Given the description of an element on the screen output the (x, y) to click on. 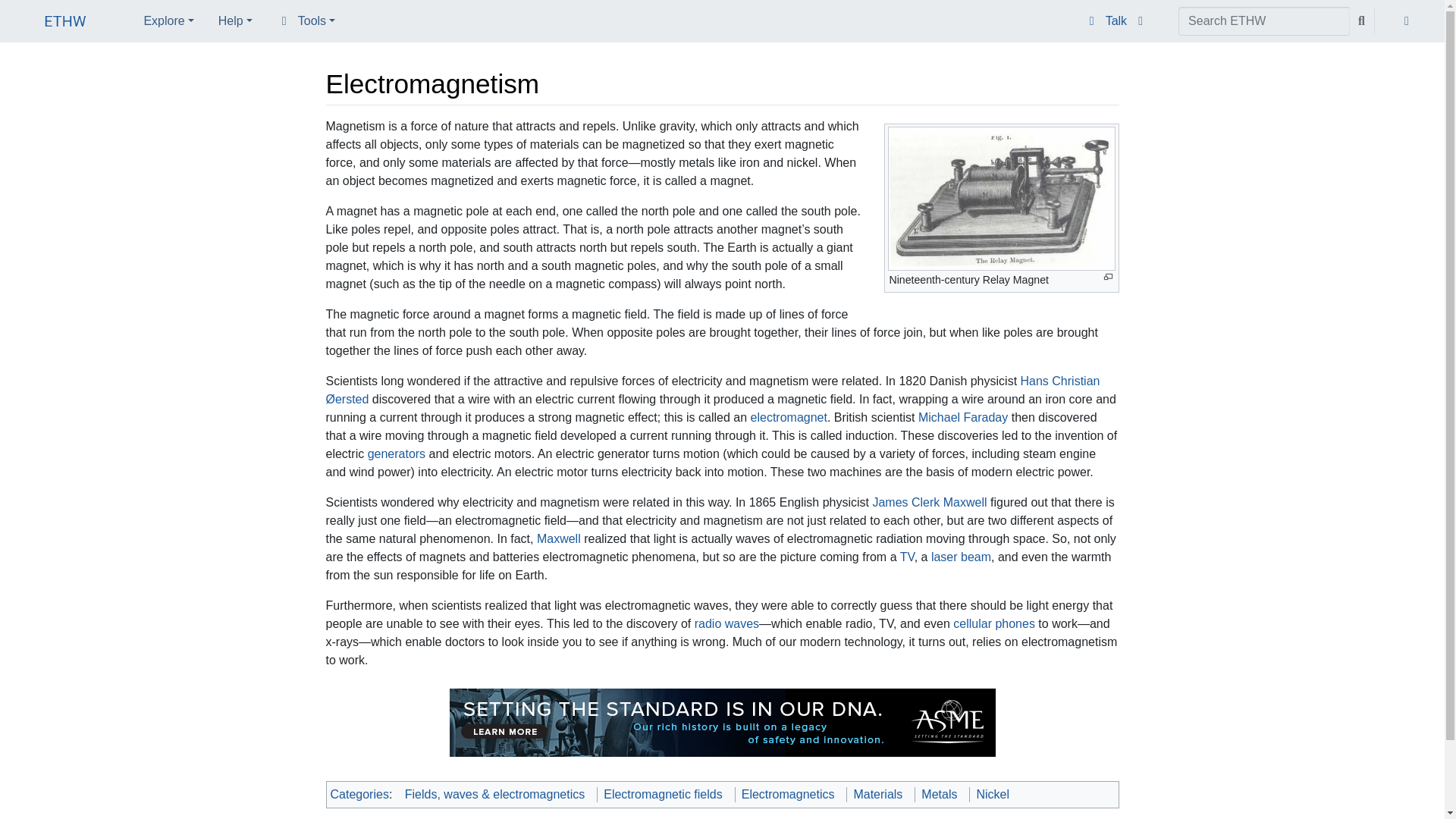
Go to a page with this exact name if it exists (1361, 21)
Talk (1105, 21)
Explore (168, 20)
Visit the main page (65, 22)
Hans Christian Oersted (713, 389)
electromagnet (789, 417)
Tools (305, 20)
Go (1361, 21)
Enlarge (1107, 276)
Help (235, 20)
